Given the description of an element on the screen output the (x, y) to click on. 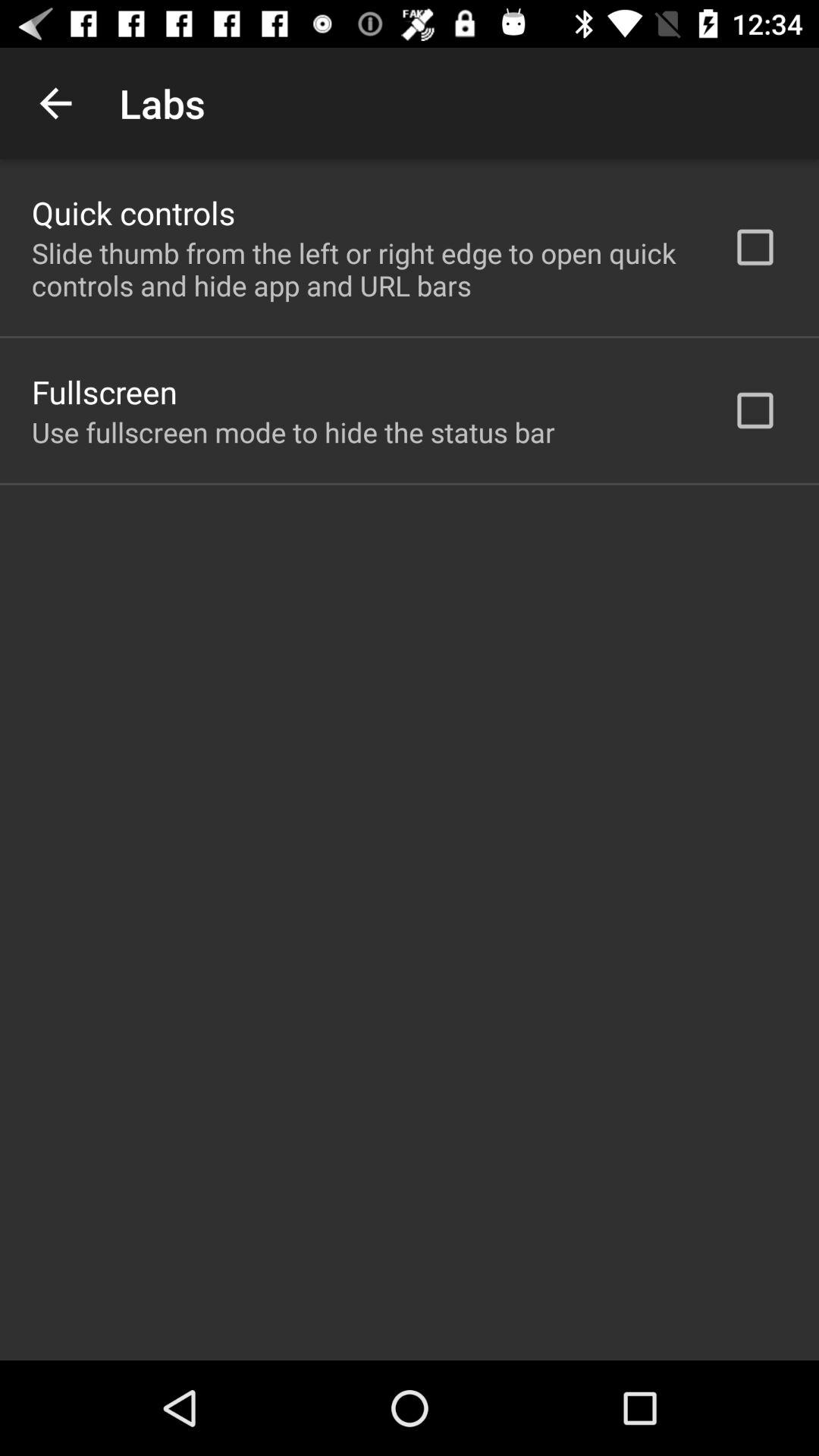
click the icon next to labs (55, 103)
